Given the description of an element on the screen output the (x, y) to click on. 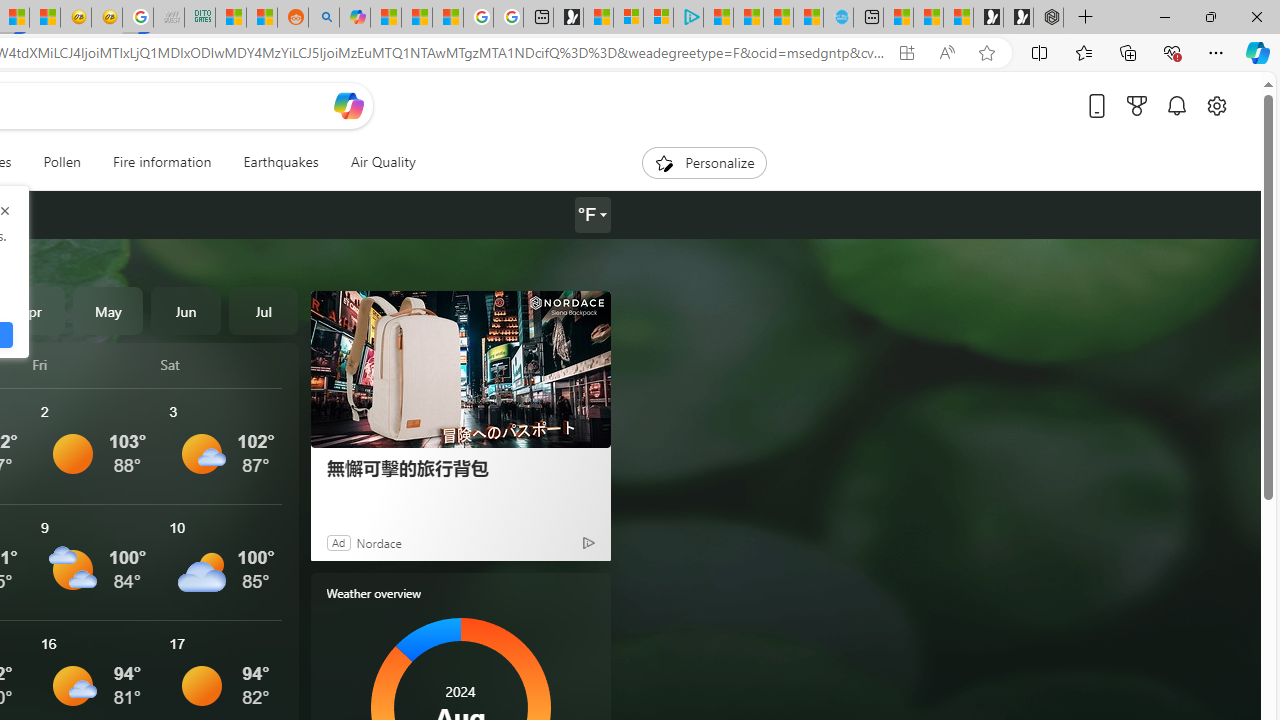
Jul (263, 310)
Jun (186, 310)
App available. Install Microsoft Start Weather (906, 53)
Personalize (703, 162)
Microsoft Copilot in Bing (354, 17)
